Given the description of an element on the screen output the (x, y) to click on. 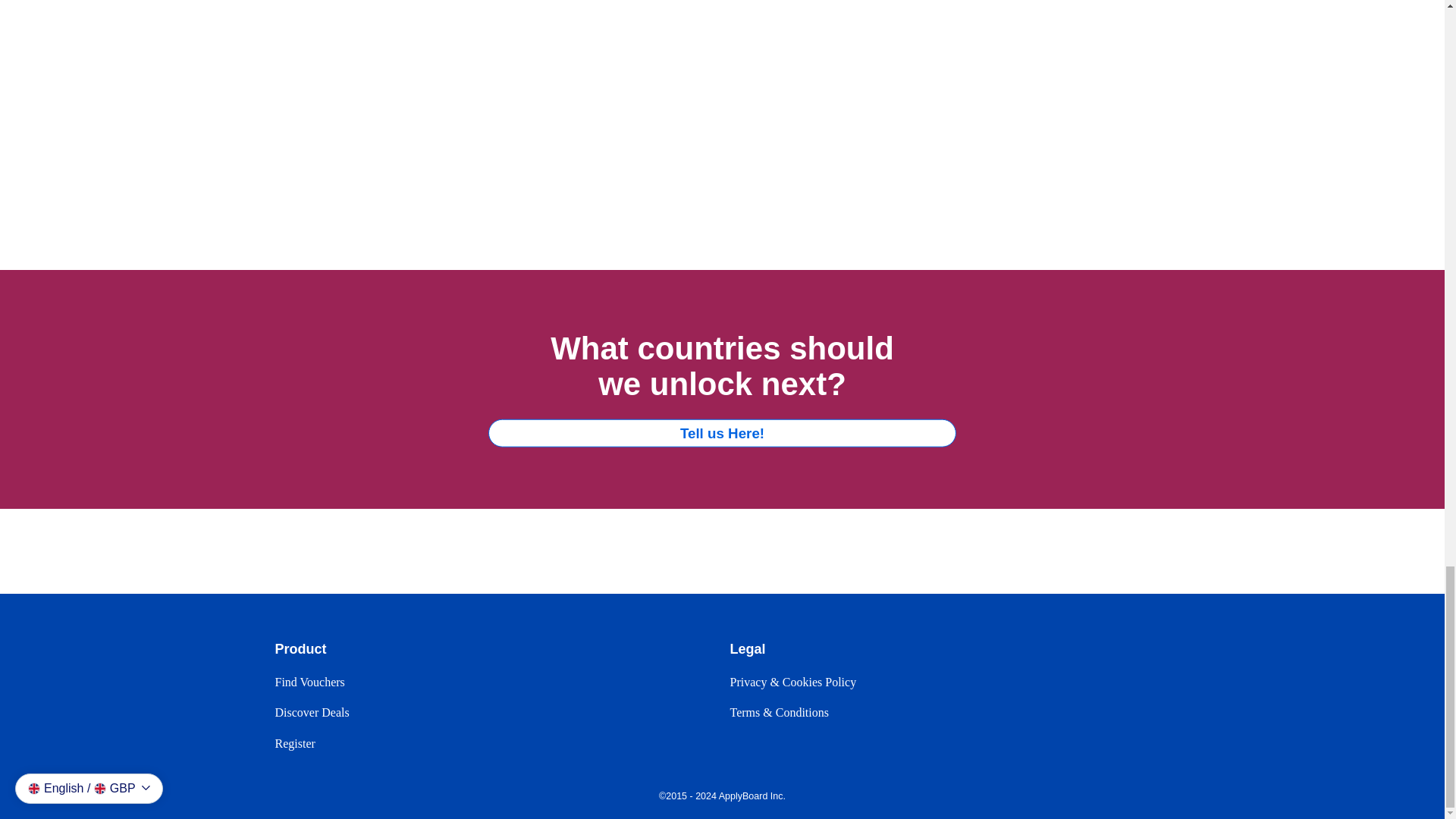
Tell us Here! (721, 432)
Find Vouchers (309, 681)
Register (294, 743)
Discover Deals (312, 712)
